Given the description of an element on the screen output the (x, y) to click on. 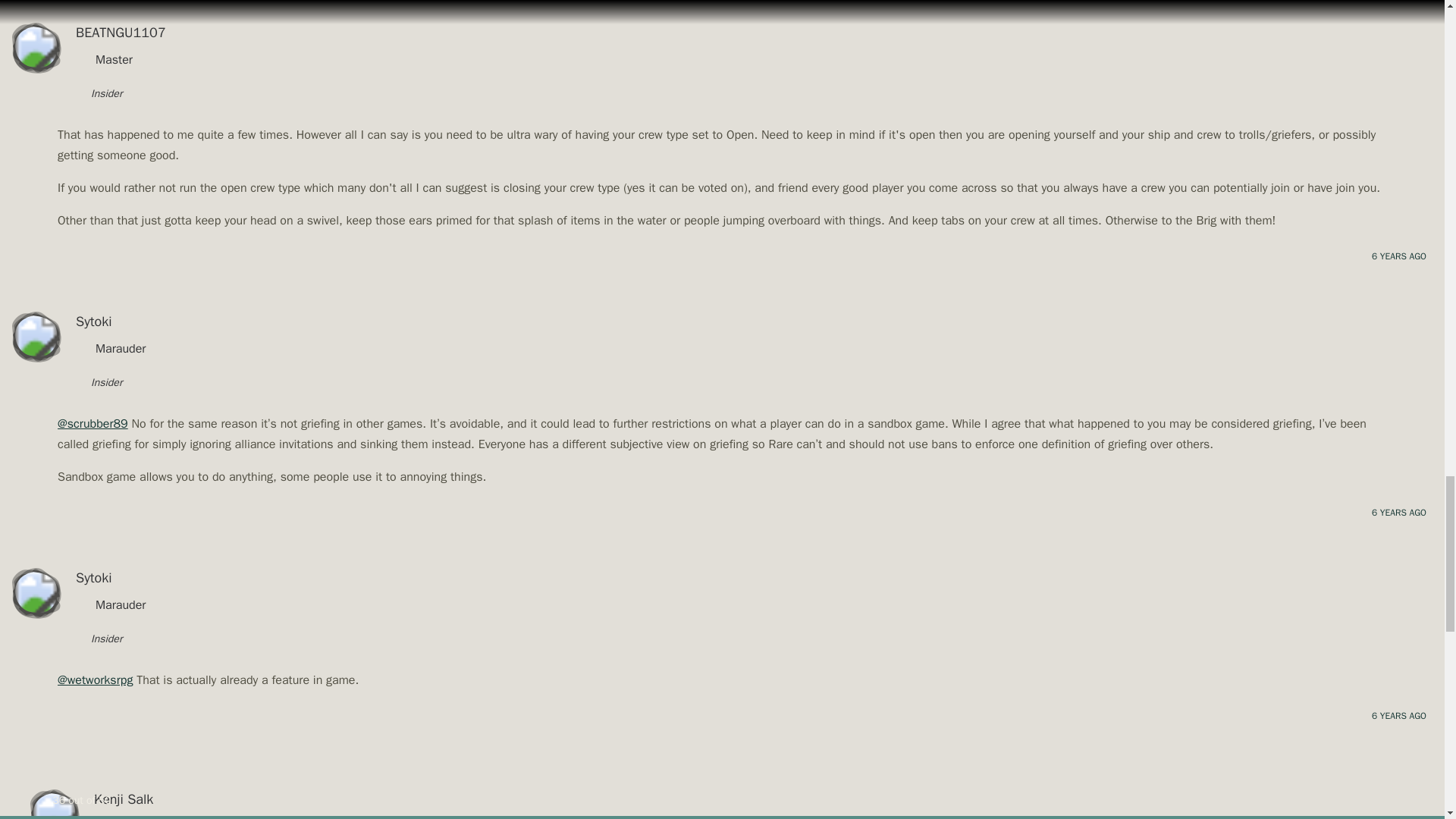
6 YEARS AGO (1398, 512)
6 YEARS AGO (1398, 255)
